Given the description of an element on the screen output the (x, y) to click on. 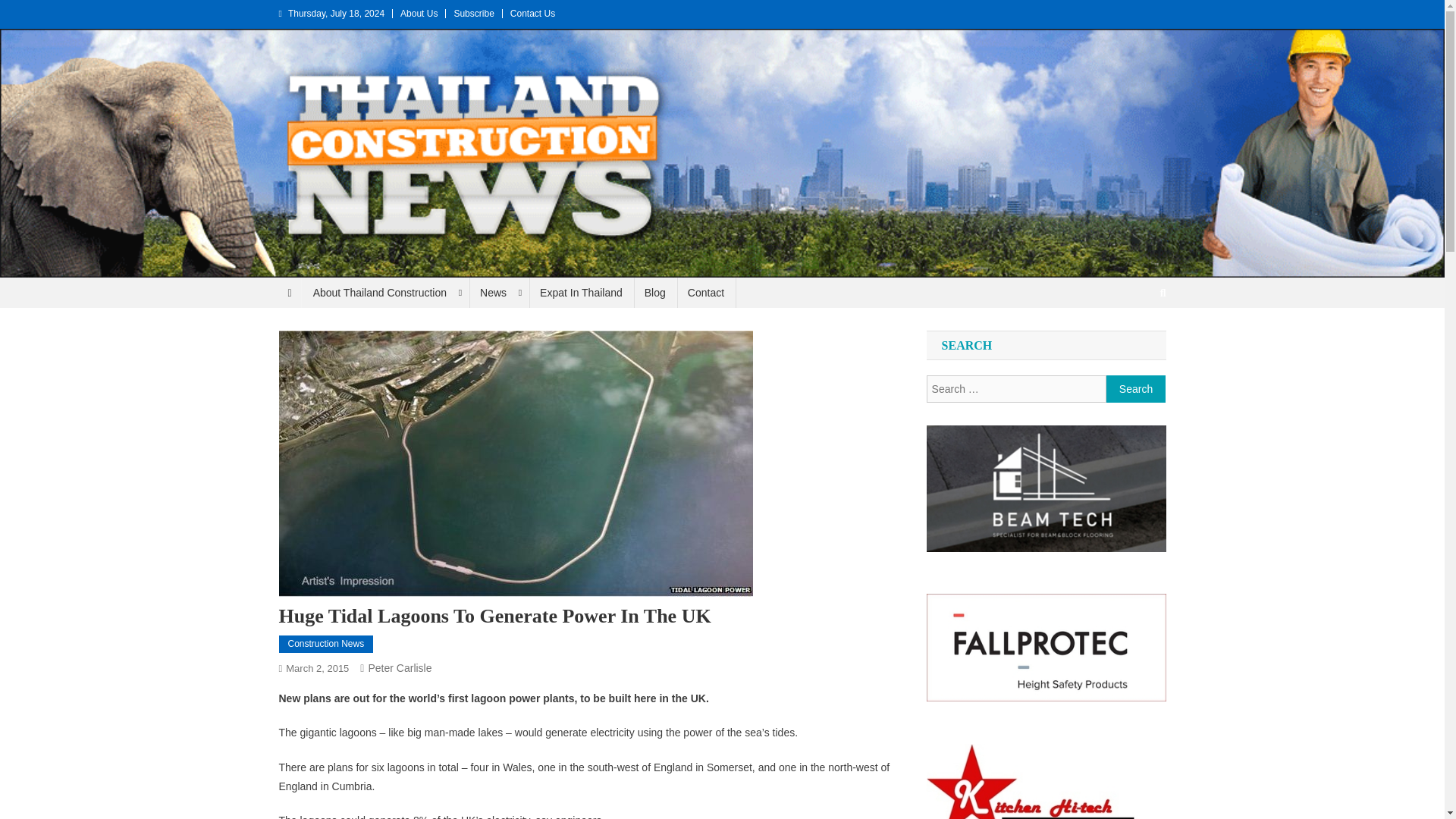
Blog (654, 292)
Contact (705, 292)
Construction News (326, 644)
Subscribe (472, 13)
March 2, 2015 (317, 668)
Search (1136, 388)
News (498, 292)
About Thailand Construction (385, 292)
Contact Us (532, 13)
About Us (419, 13)
Peter Carlisle (399, 667)
Expat In Thailand (580, 292)
Thailand Construction and Engineering News (262, 292)
Search (1133, 343)
Search (1136, 388)
